Given the description of an element on the screen output the (x, y) to click on. 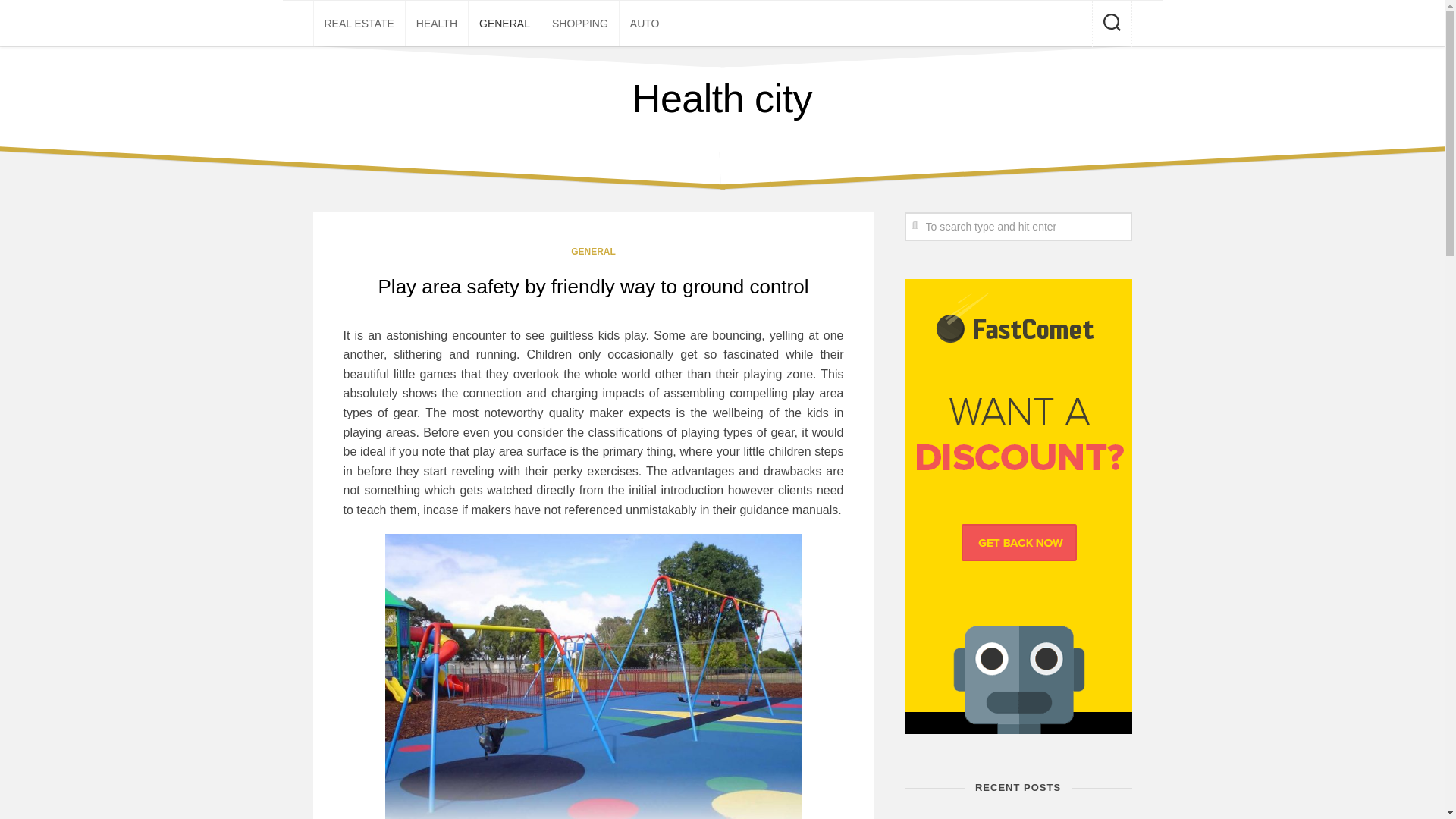
HEALTH (436, 23)
To search type and hit enter (1017, 226)
SHOPPING (579, 23)
Health city (722, 98)
Play area safety by friendly way to ground control (593, 286)
To search type and hit enter (1017, 226)
AUTO (644, 23)
GENERAL (504, 23)
REAL ESTATE (359, 23)
